Given the description of an element on the screen output the (x, y) to click on. 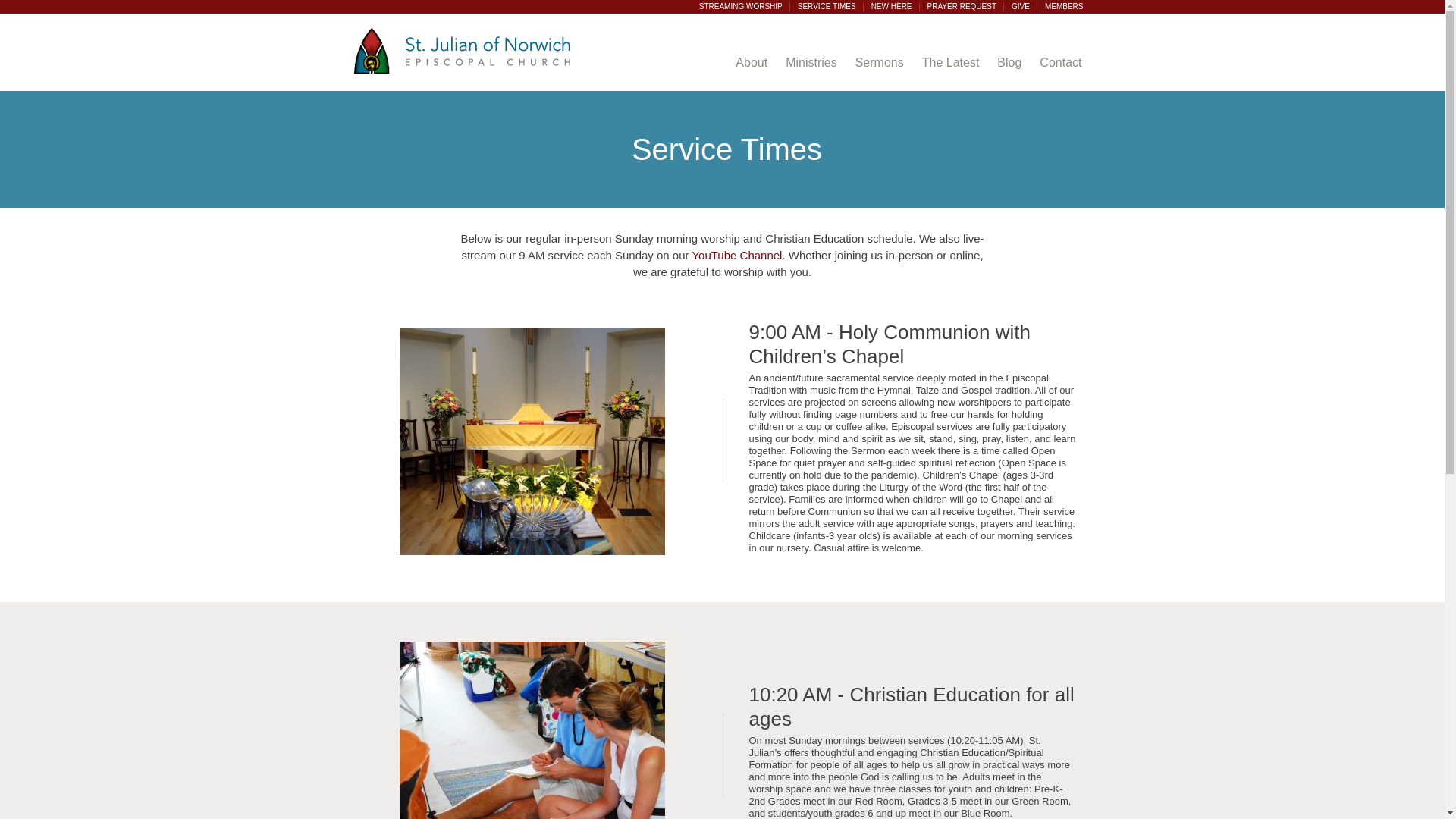
Sermons (878, 62)
NEW HERE (891, 6)
About (751, 62)
PRAYER REQUEST (962, 6)
The Latest (950, 62)
Ministries (810, 62)
GIVE (1020, 6)
STREAMING WORSHIP (740, 6)
MEMBERS (1064, 6)
SERVICE TIMES (826, 6)
